Given the description of an element on the screen output the (x, y) to click on. 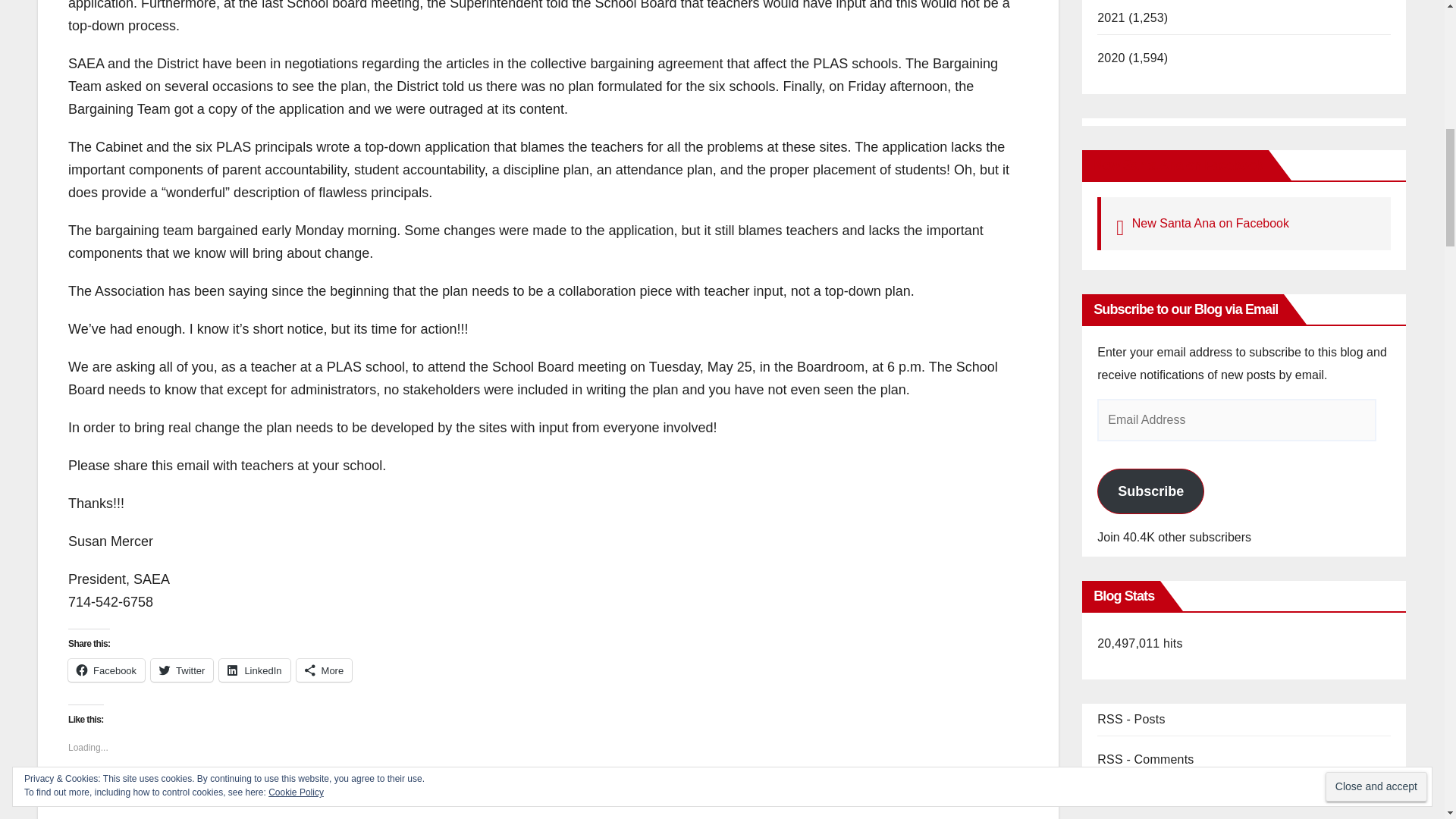
Click to share on Facebook (106, 670)
LinkedIn (254, 670)
Click to share on Twitter (181, 670)
Twitter (181, 670)
Click to share on LinkedIn (254, 670)
More (324, 670)
Facebook (106, 670)
